Given the description of an element on the screen output the (x, y) to click on. 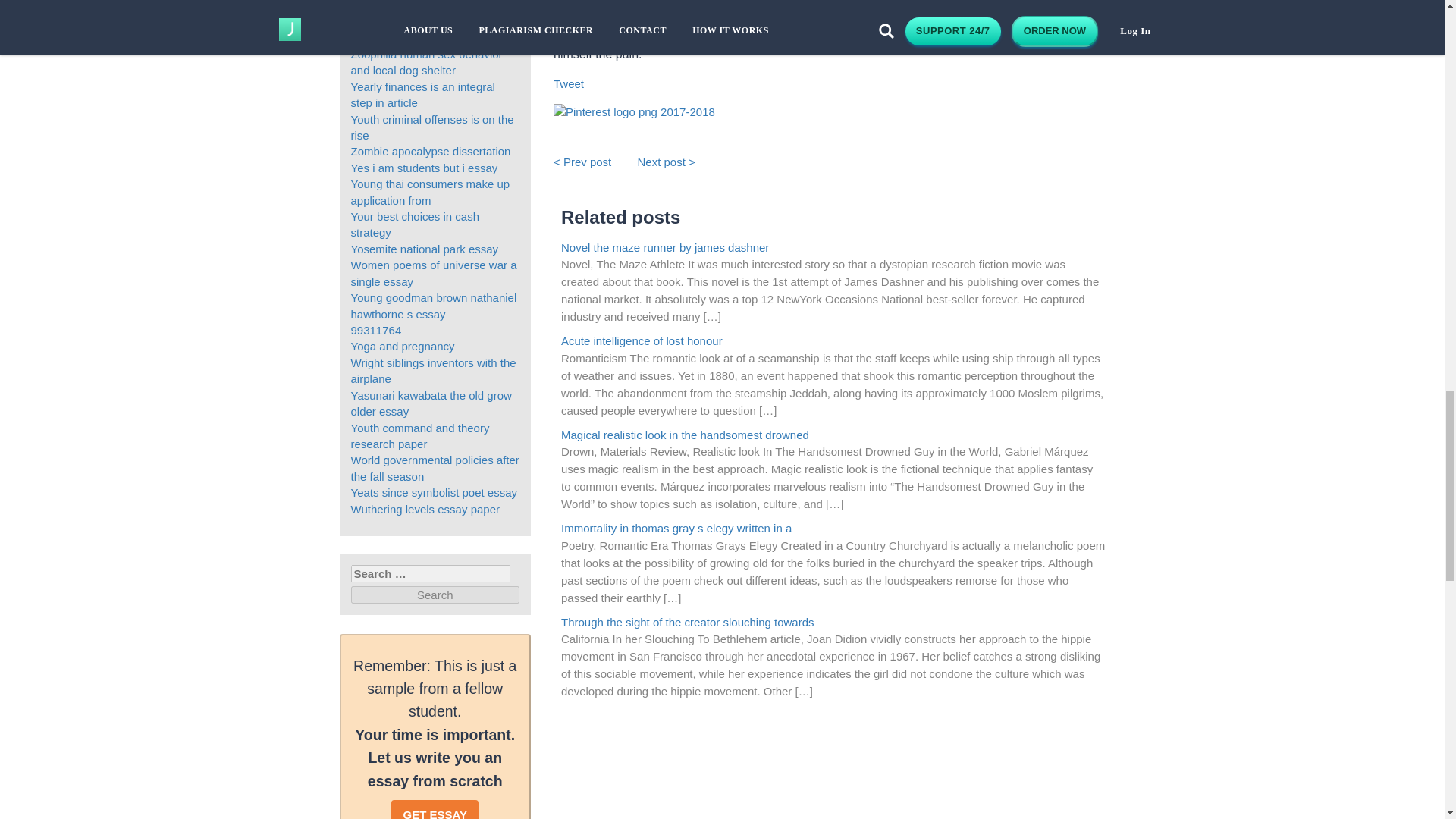
Search (434, 594)
Search (434, 594)
